Given the description of an element on the screen output the (x, y) to click on. 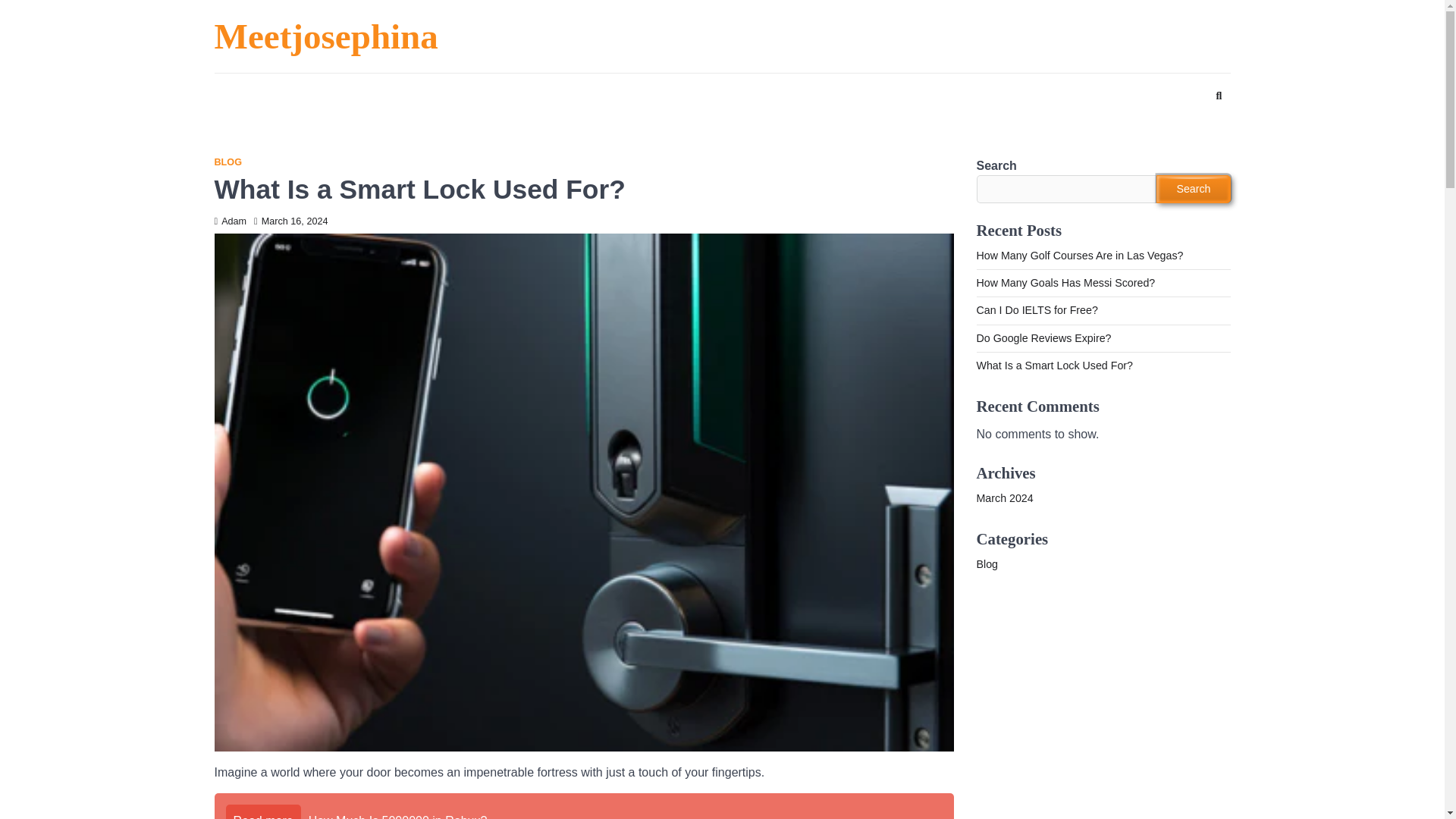
March 2024 (1004, 498)
March 16, 2024 (290, 221)
Blog (987, 563)
Meetjosephina (326, 36)
Do Google Reviews Expire? (1044, 337)
Read moreHow Much Is 5000000 in Robux? (583, 806)
BLOG (227, 162)
How Many Golf Courses Are in Las Vegas? (1079, 255)
Adam (230, 221)
Search (1191, 133)
What Is a Smart Lock Used For? (1054, 365)
Search (1193, 188)
How Many Goals Has Messi Scored? (1066, 282)
Search (1218, 96)
Can I Do IELTS for Free? (1036, 309)
